Given the description of an element on the screen output the (x, y) to click on. 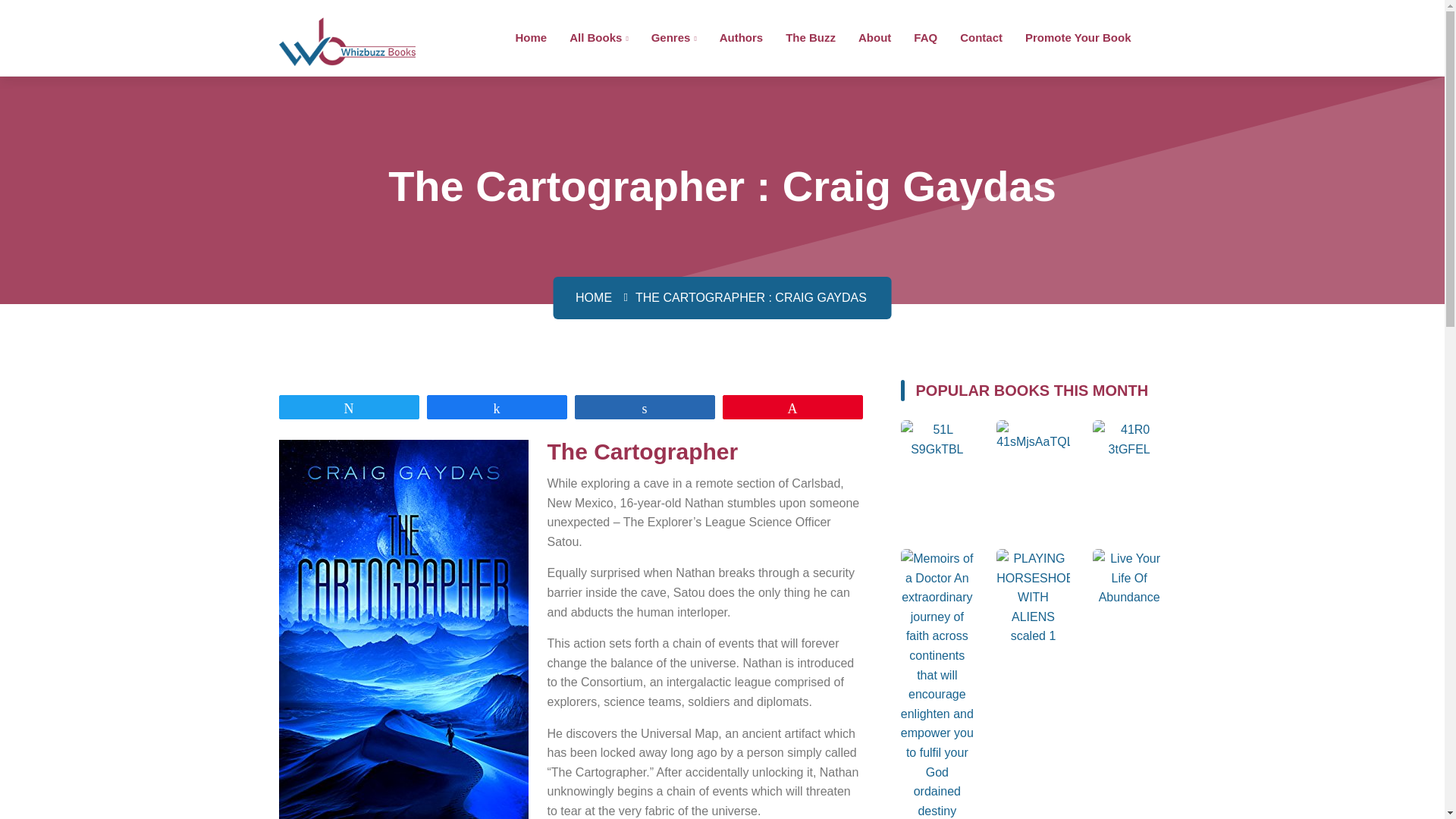
All Books (598, 37)
Home (530, 37)
Genres (673, 37)
Authors (740, 37)
